Given the description of an element on the screen output the (x, y) to click on. 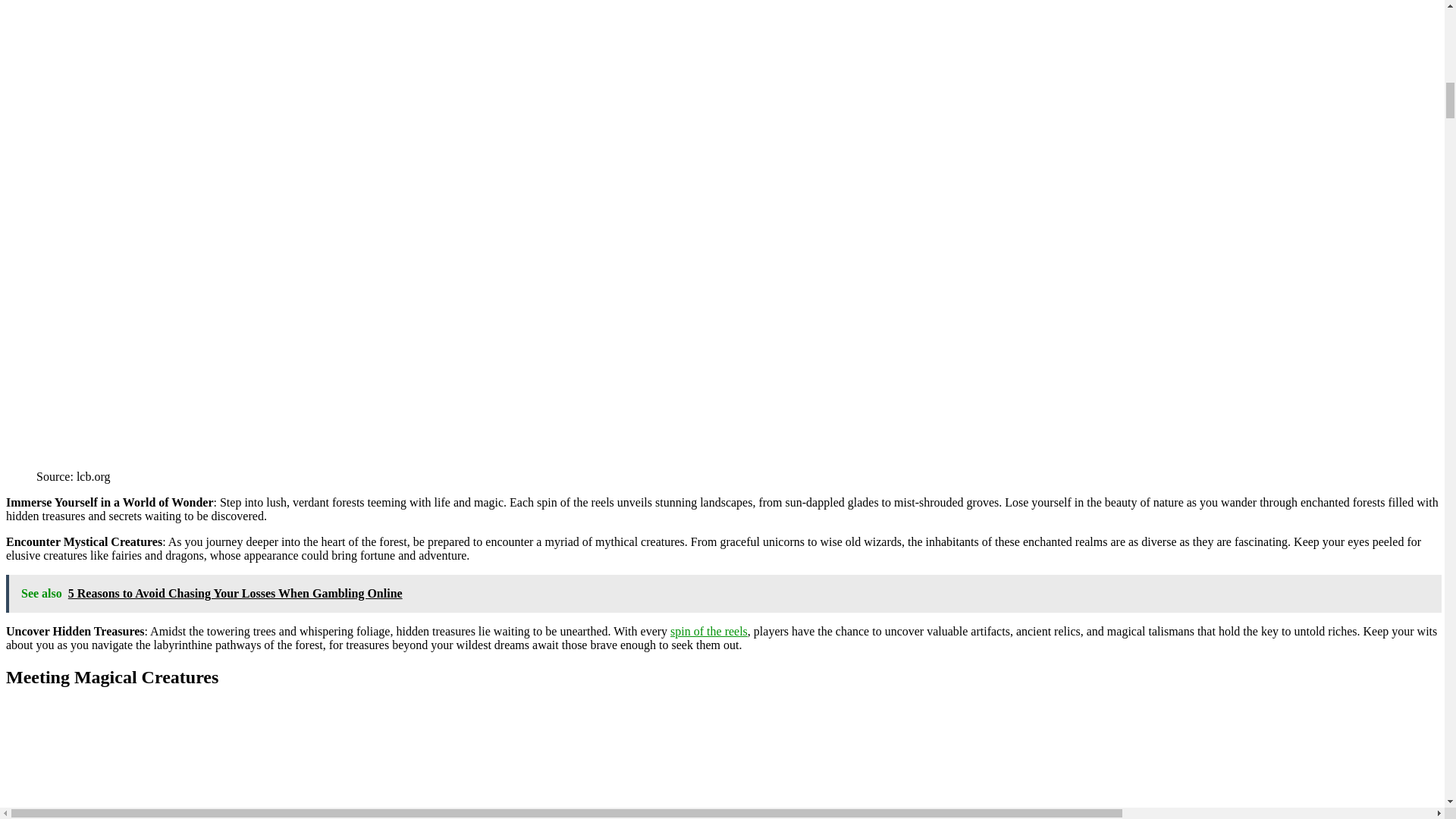
spin of the reels (708, 631)
